Given the description of an element on the screen output the (x, y) to click on. 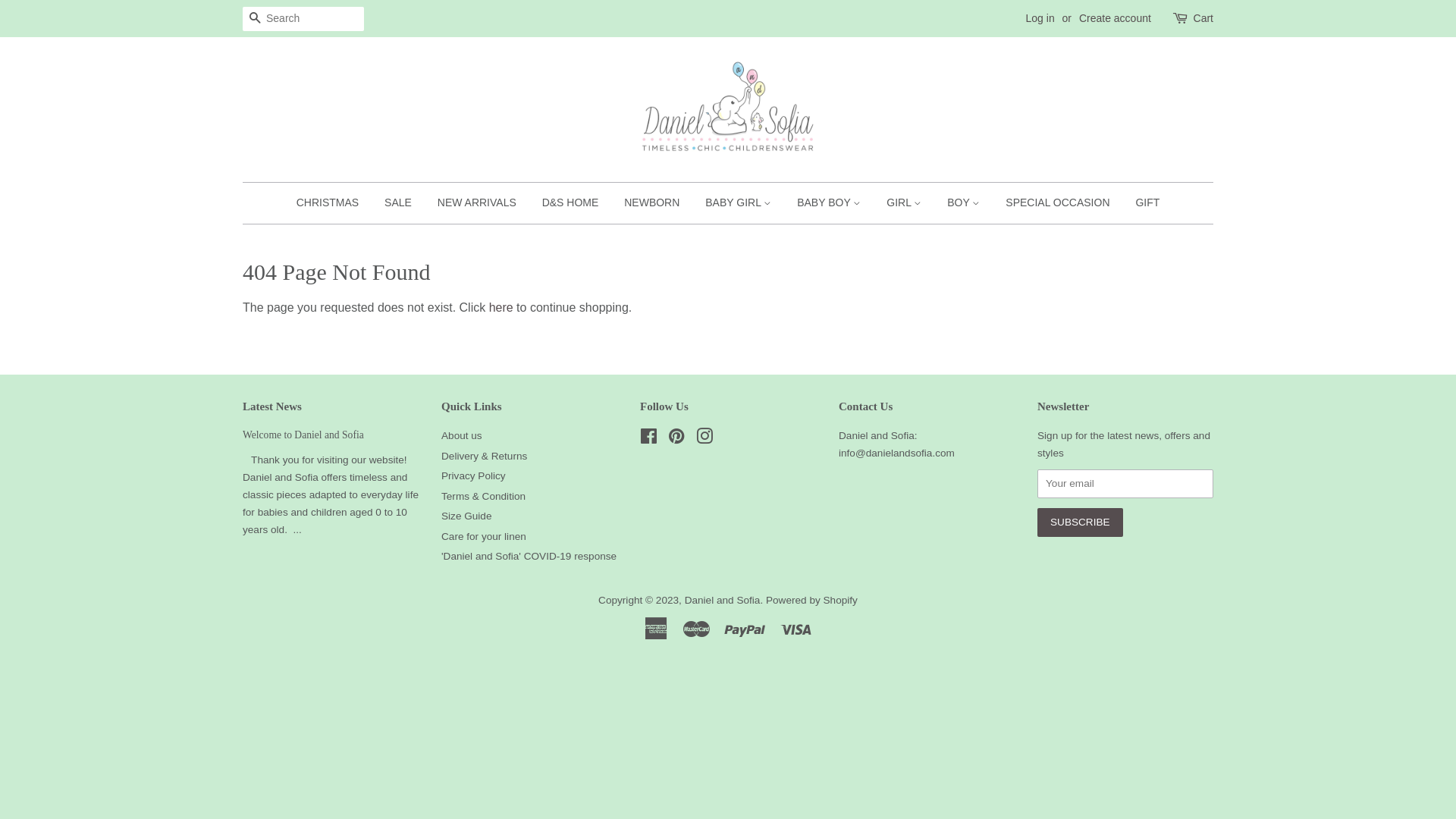
Welcome to Daniel and Sofia Element type: text (303, 434)
GIRL Element type: text (903, 202)
BABY GIRL Element type: text (737, 202)
BABY BOY Element type: text (828, 202)
Instagram Element type: text (704, 439)
Powered by Shopify Element type: text (811, 599)
NEWBORN Element type: text (651, 202)
Care for your linen Element type: text (483, 536)
Subscribe Element type: text (1080, 522)
Cart Element type: text (1203, 18)
Facebook Element type: text (648, 439)
Privacy Policy Element type: text (473, 475)
D&S HOME Element type: text (570, 202)
Terms & Condition Element type: text (483, 496)
SEARCH Element type: text (254, 18)
Log in Element type: text (1040, 18)
Create account Element type: text (1115, 18)
here Element type: text (501, 307)
Size Guide Element type: text (466, 515)
GIFT Element type: text (1141, 202)
BOY Element type: text (963, 202)
Daniel and Sofia Element type: text (722, 599)
CHRISTMAS Element type: text (333, 202)
Delivery & Returns Element type: text (484, 455)
'Daniel and Sofia' COVID-19 response Element type: text (528, 555)
About us Element type: text (461, 435)
SPECIAL OCCASION Element type: text (1057, 202)
NEW ARRIVALS Element type: text (476, 202)
Pinterest Element type: text (676, 439)
Latest News Element type: text (271, 406)
SALE Element type: text (398, 202)
